Given the description of an element on the screen output the (x, y) to click on. 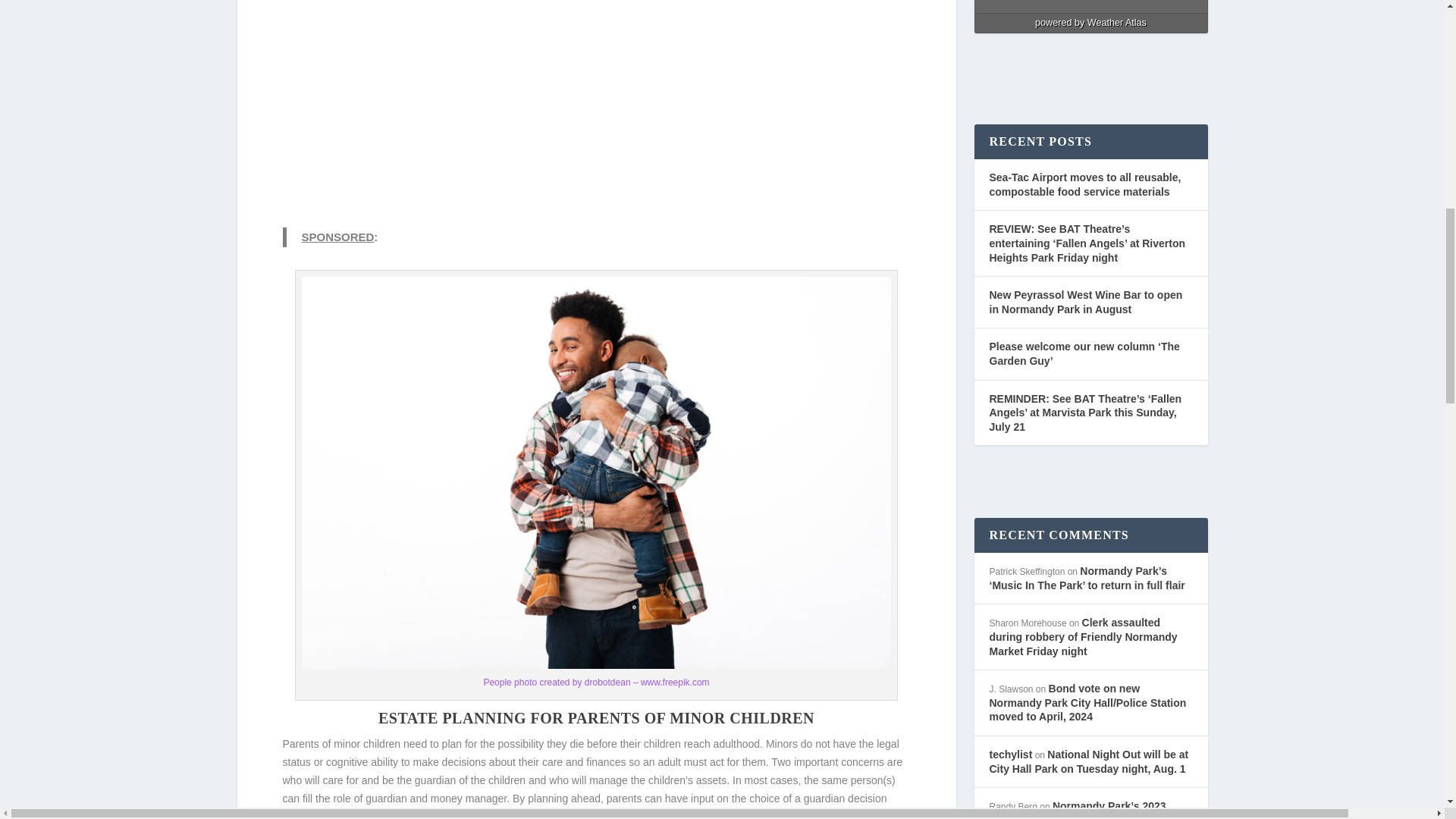
Sunny (1023, 1)
